Given the description of an element on the screen output the (x, y) to click on. 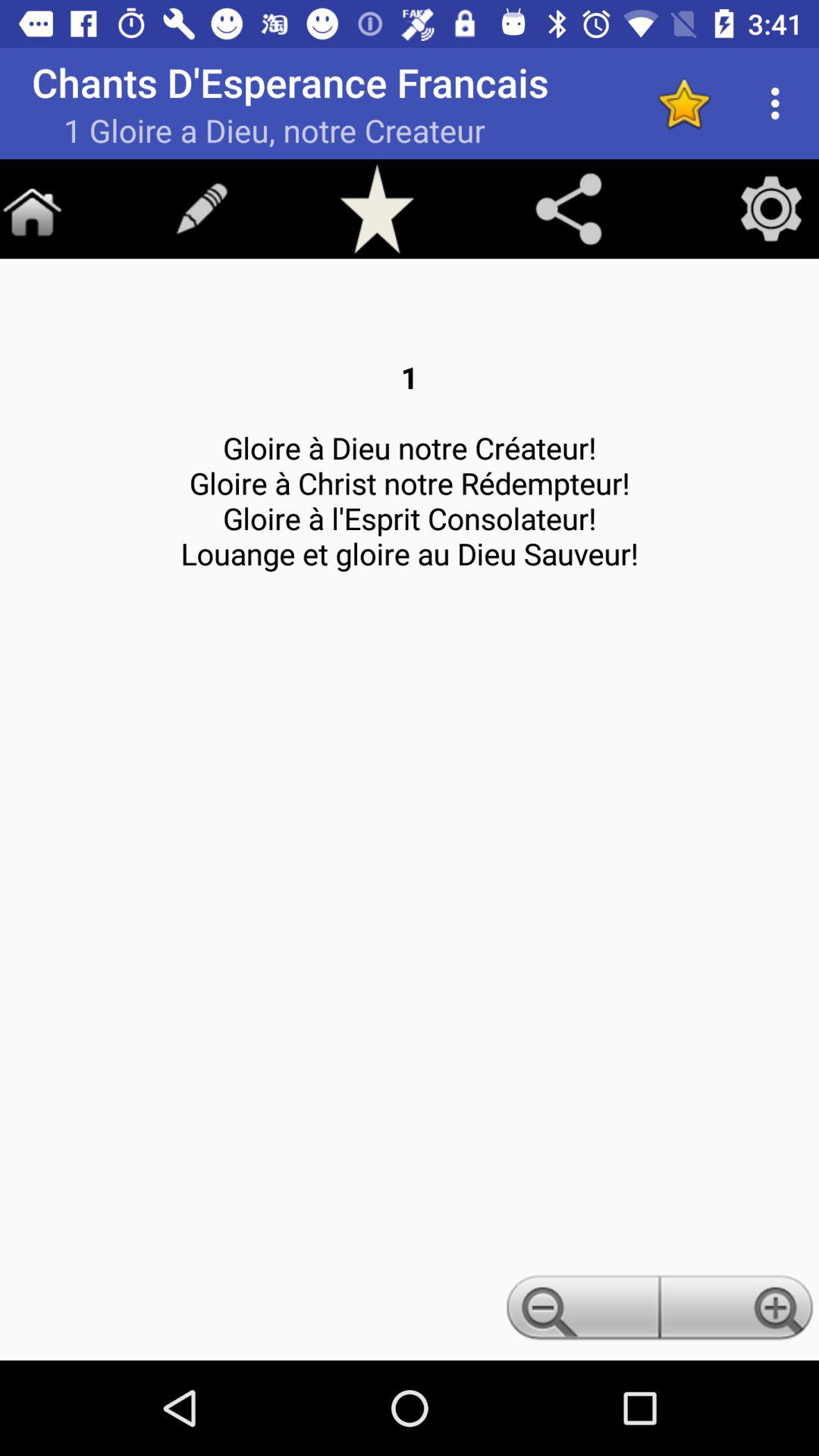
share contact (568, 208)
